Given the description of an element on the screen output the (x, y) to click on. 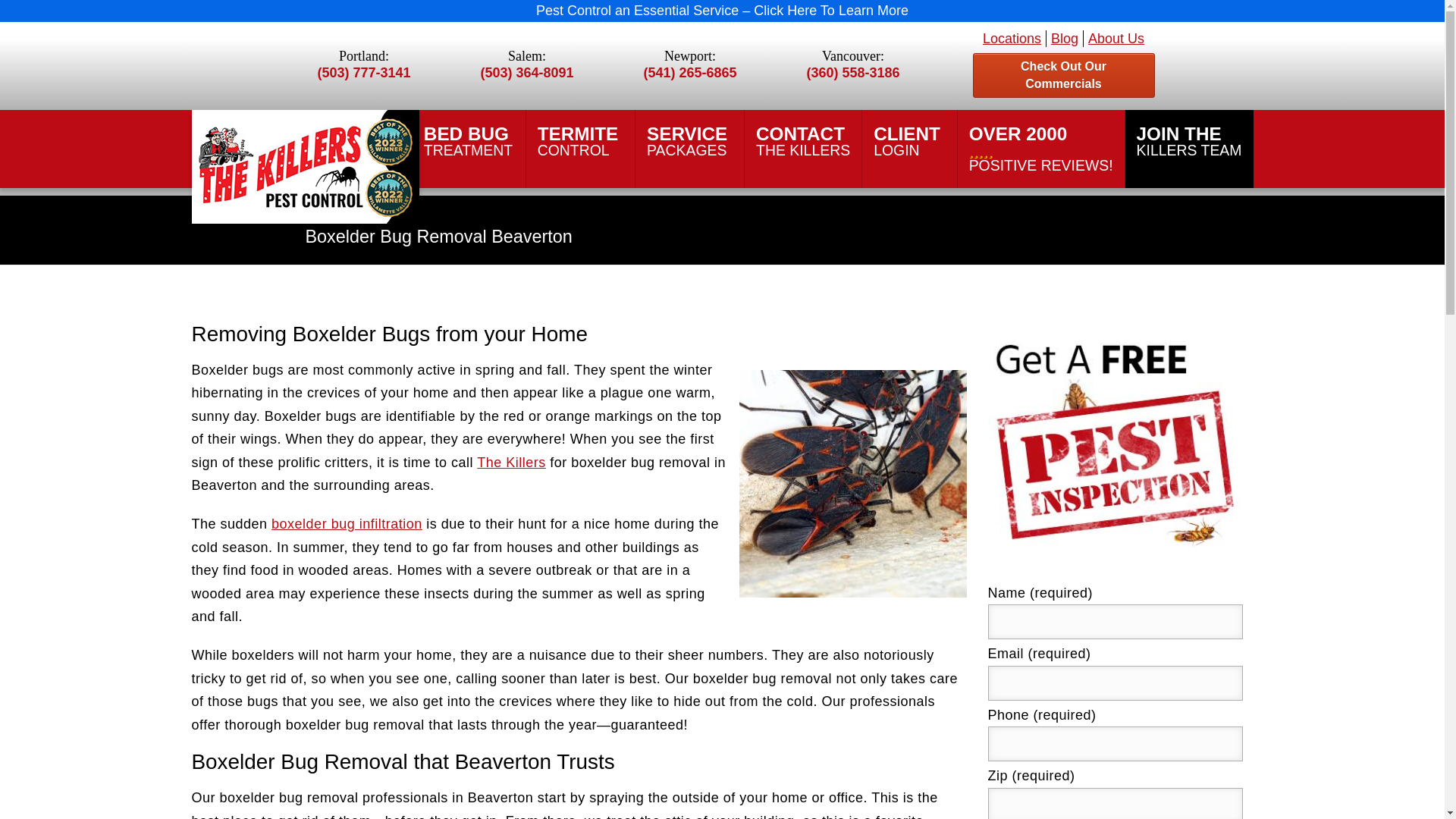
Check Out Our Commercials (579, 141)
Boxelder Bug Removal Beaverton by The Killers (1041, 148)
The Killers (468, 141)
boxelder bug infiltration (364, 141)
Pest Control Portland (802, 141)
Locations (1063, 74)
Blog (852, 483)
